Given the description of an element on the screen output the (x, y) to click on. 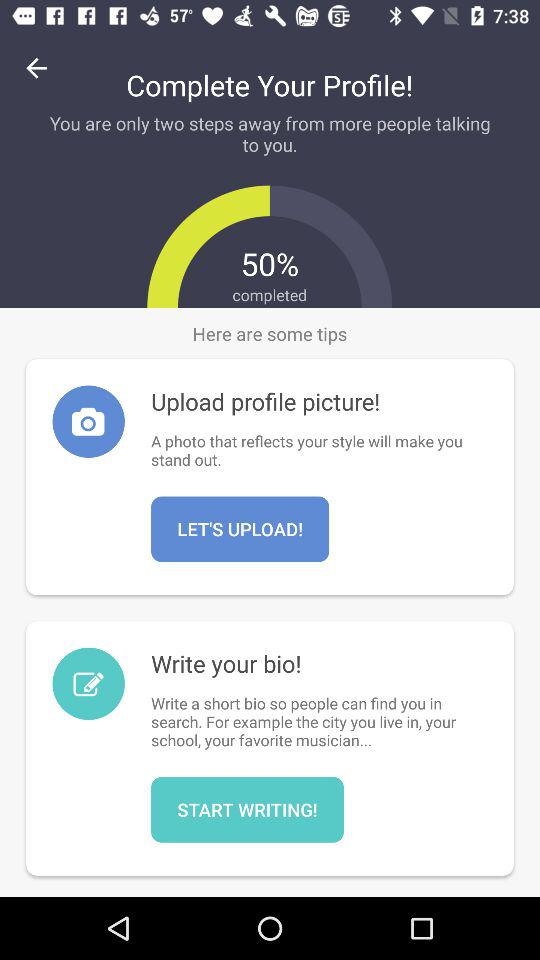
turn on the item above you are only (36, 68)
